Given the description of an element on the screen output the (x, y) to click on. 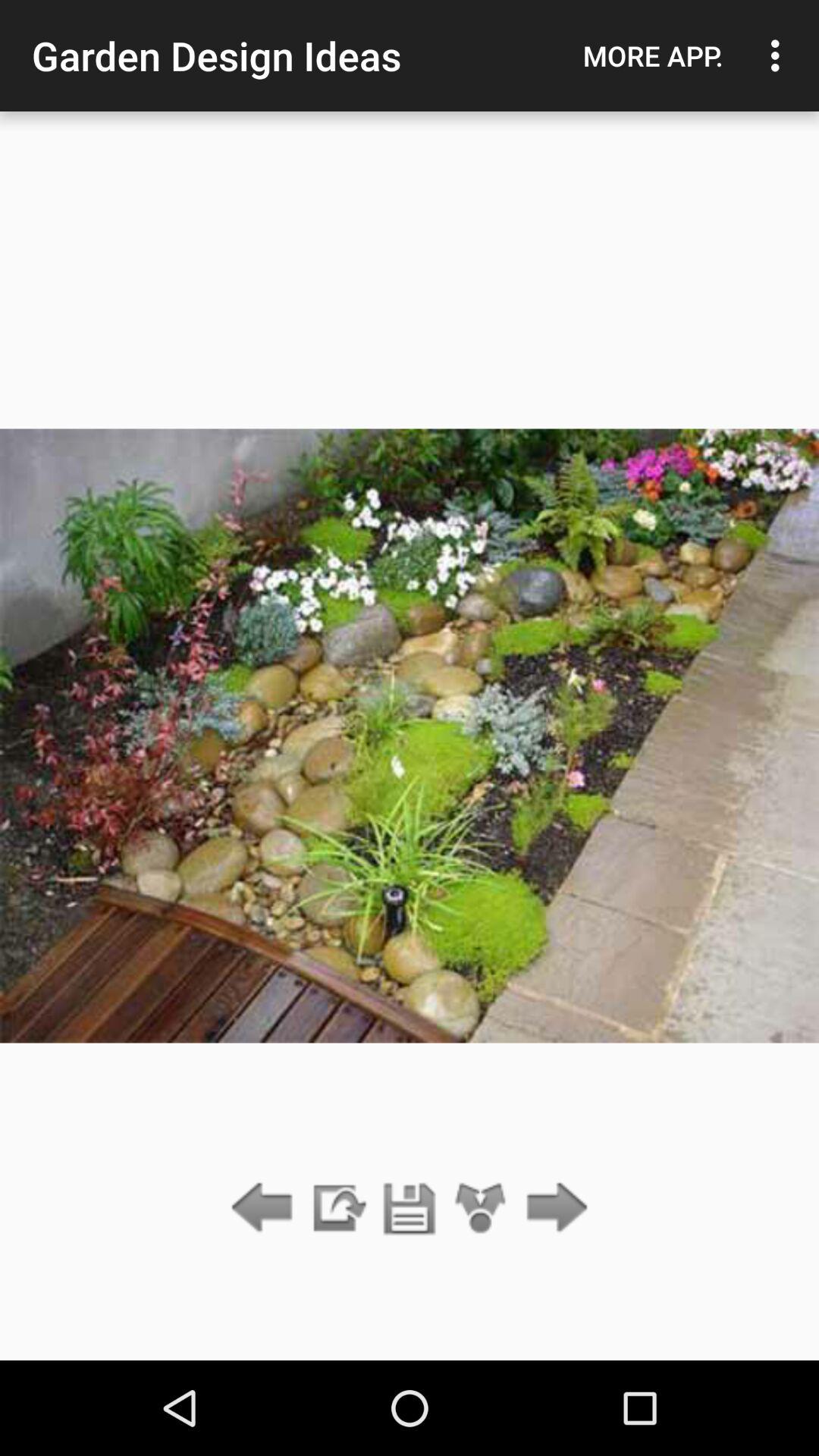
jump until more app. icon (653, 55)
